Given the description of an element on the screen output the (x, y) to click on. 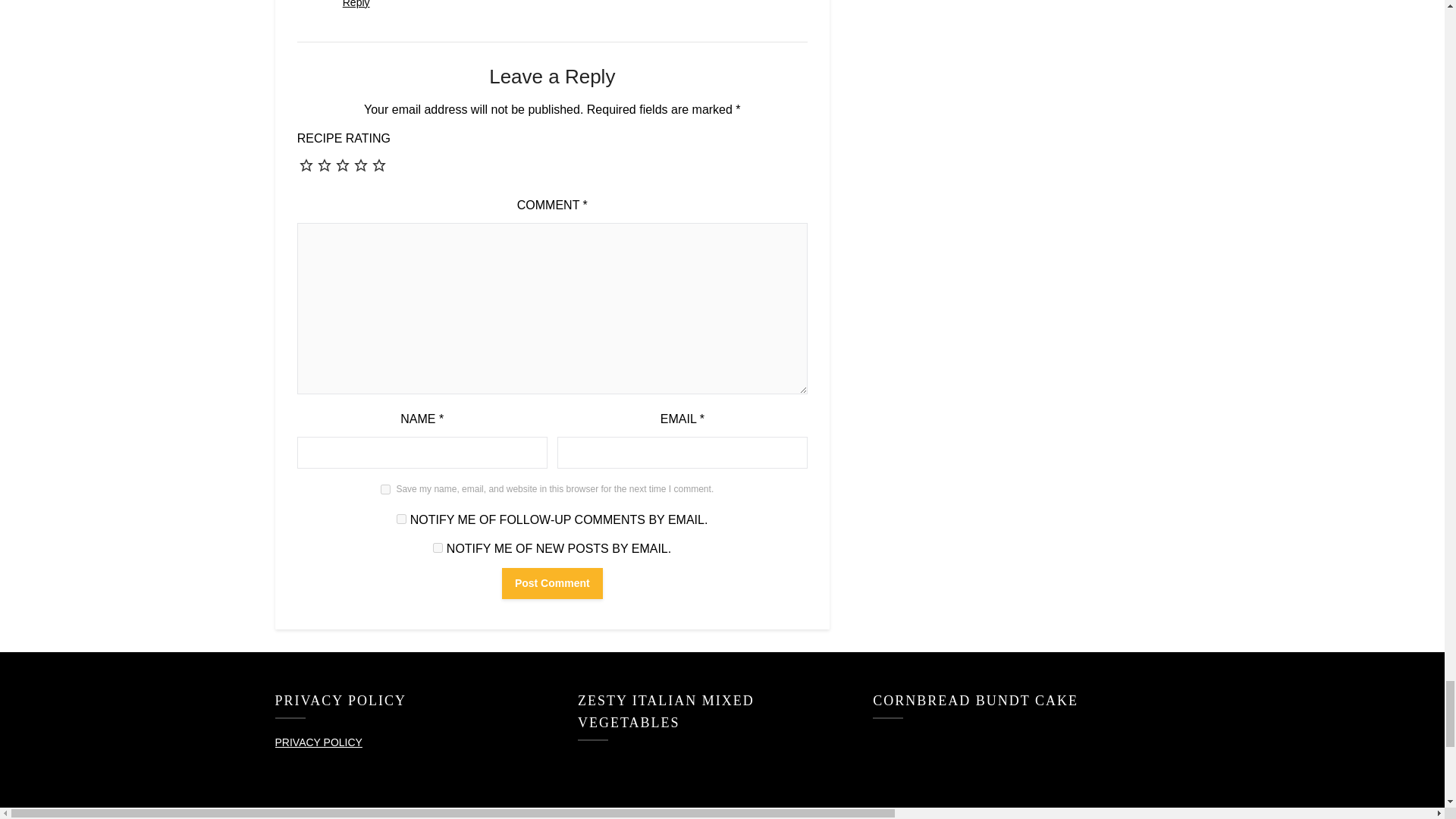
subscribe (437, 547)
PRIVACY POLICY (318, 742)
Post Comment (552, 583)
Reply (355, 4)
yes (385, 489)
Post Comment (552, 583)
subscribe (401, 519)
